Given the description of an element on the screen output the (x, y) to click on. 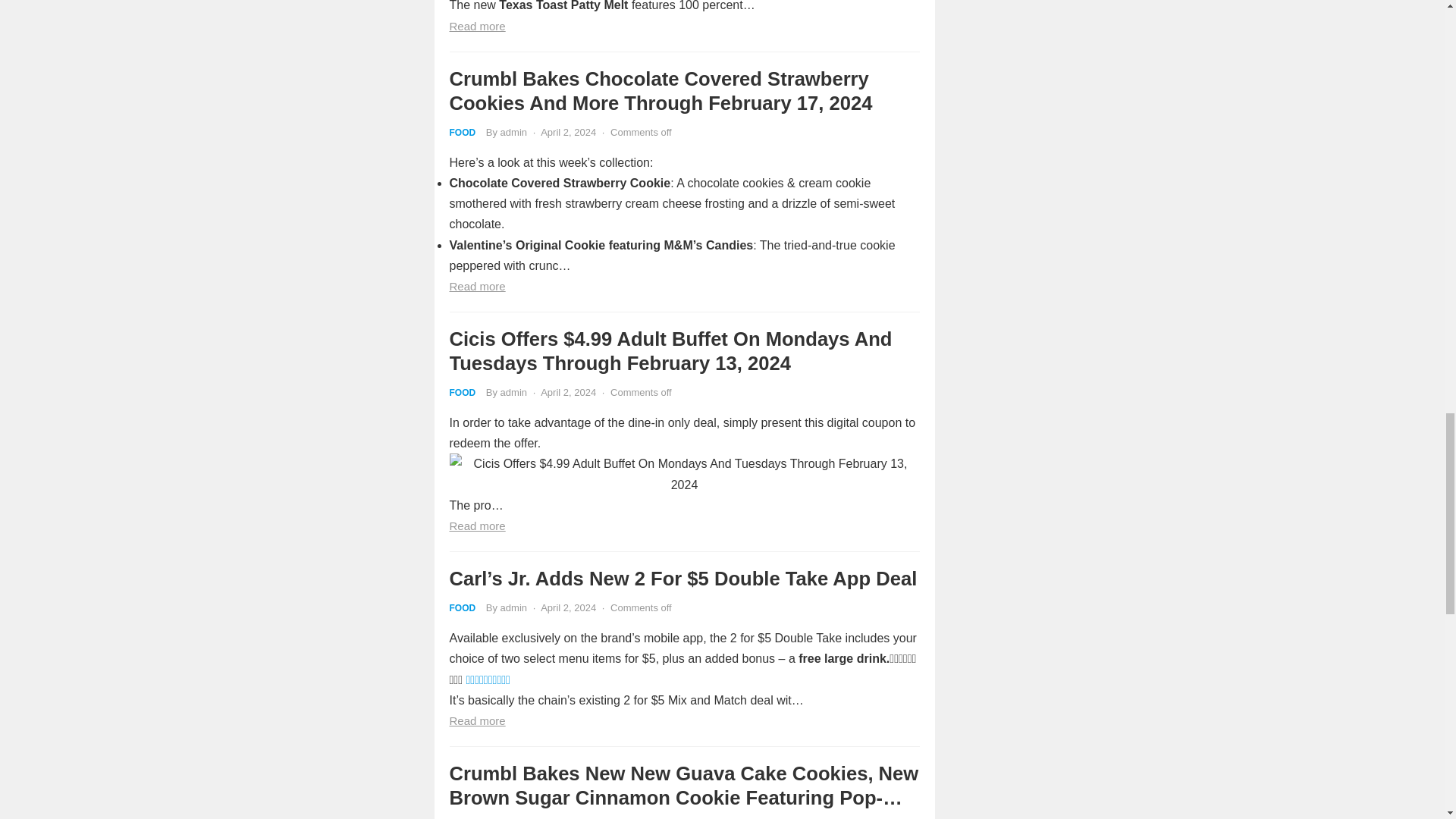
Posts by admin (513, 392)
Posts by admin (513, 132)
Posts by admin (513, 607)
